Given the description of an element on the screen output the (x, y) to click on. 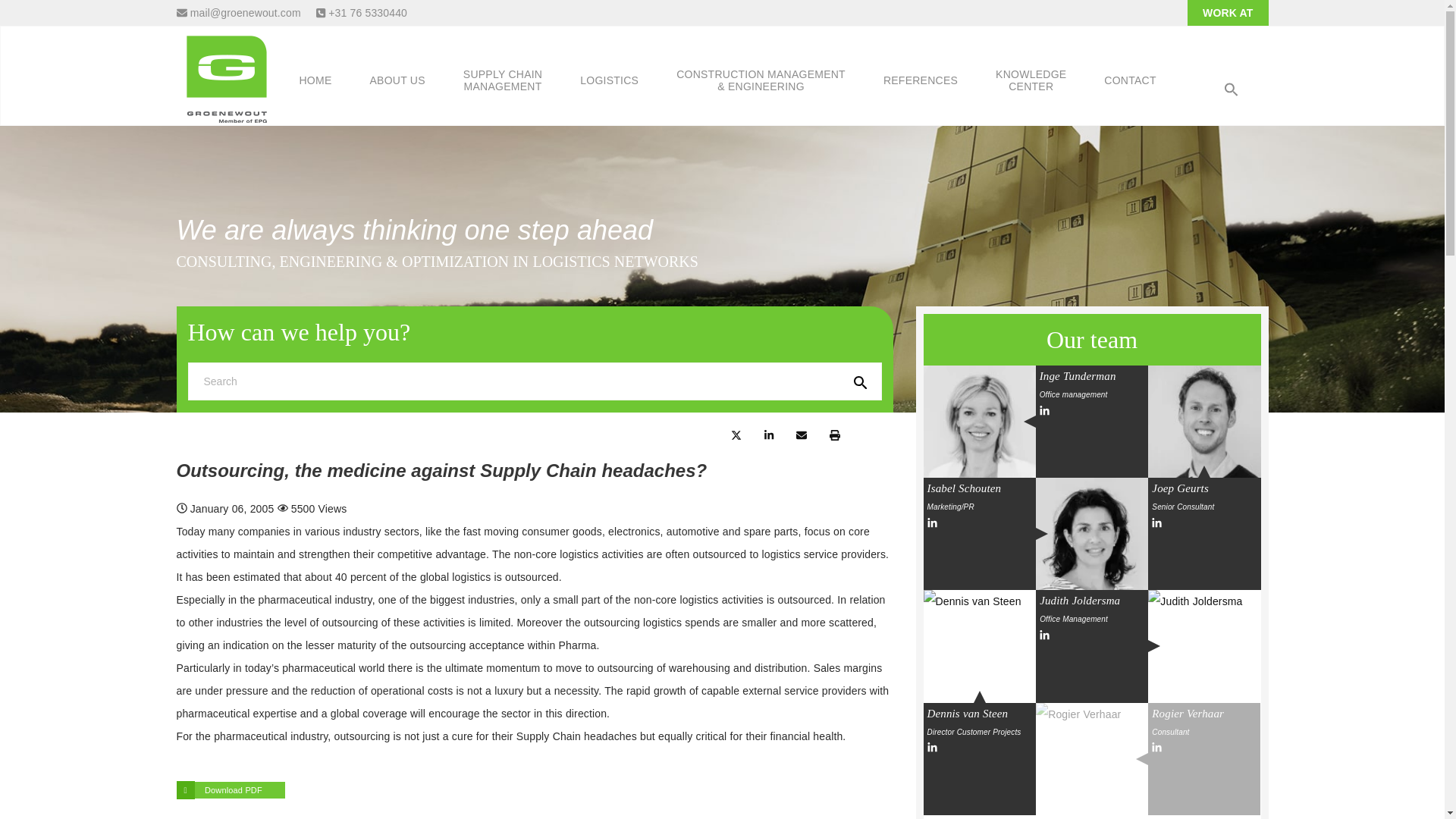
LOGISTICS (609, 80)
REFERENCES (920, 80)
HOME (315, 80)
We are always thinking one step ahead (502, 79)
Isabel Schouten (226, 74)
WORK AT (1091, 533)
Joep Geurts (1228, 13)
Dennis van Steen (1204, 421)
ABOUT US (979, 645)
Judith Joldersma (397, 80)
Inge Tunderman (1204, 645)
Rogier Verhaar (979, 421)
